Given the description of an element on the screen output the (x, y) to click on. 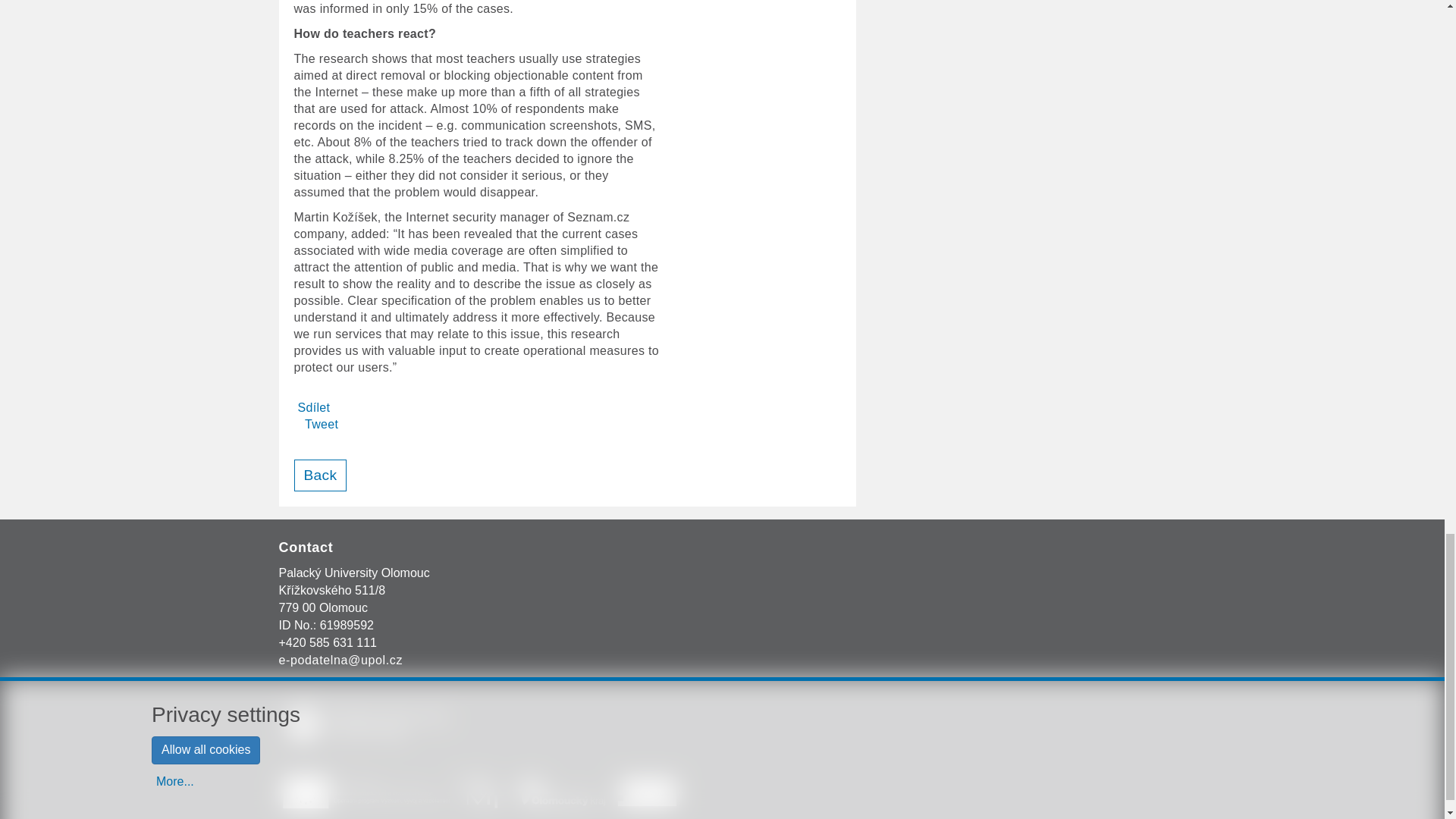
Back (320, 475)
Official tourism website for Olomouc (646, 792)
Tweet (320, 423)
UP on the map (377, 723)
Olomouc Region (560, 792)
